Given the description of an element on the screen output the (x, y) to click on. 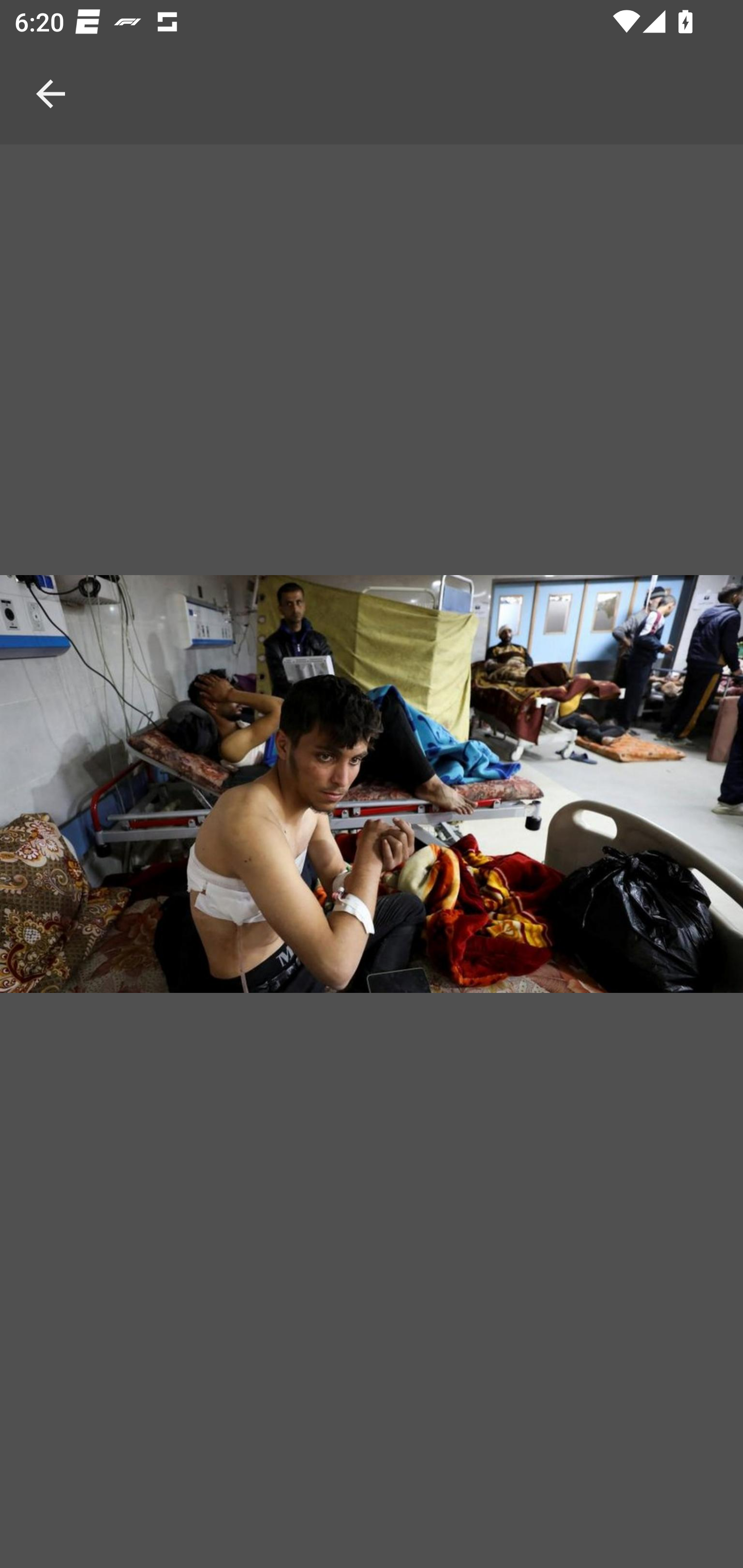
Back (50, 72)
